Given the description of an element on the screen output the (x, y) to click on. 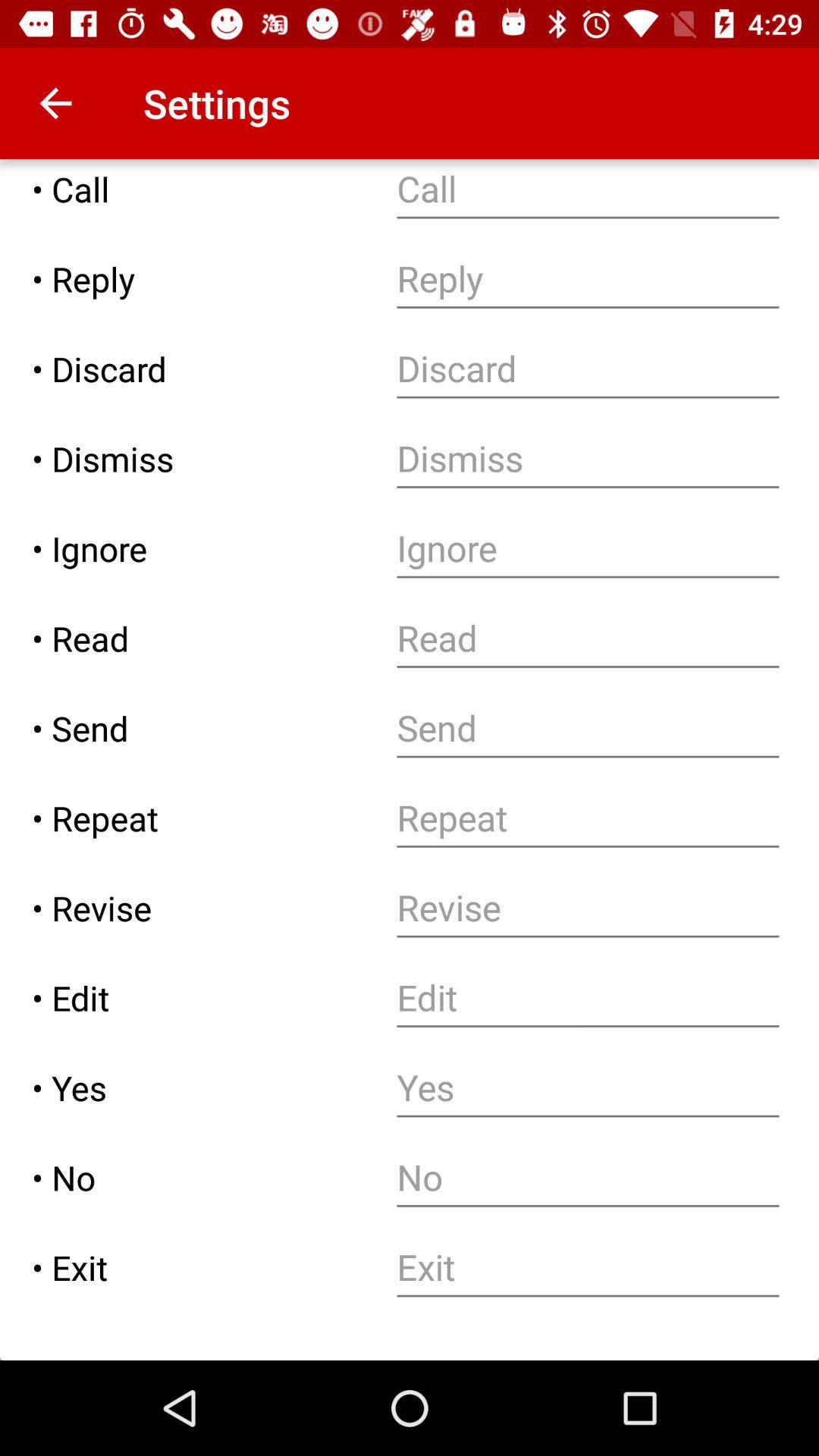
text input box (588, 728)
